Given the description of an element on the screen output the (x, y) to click on. 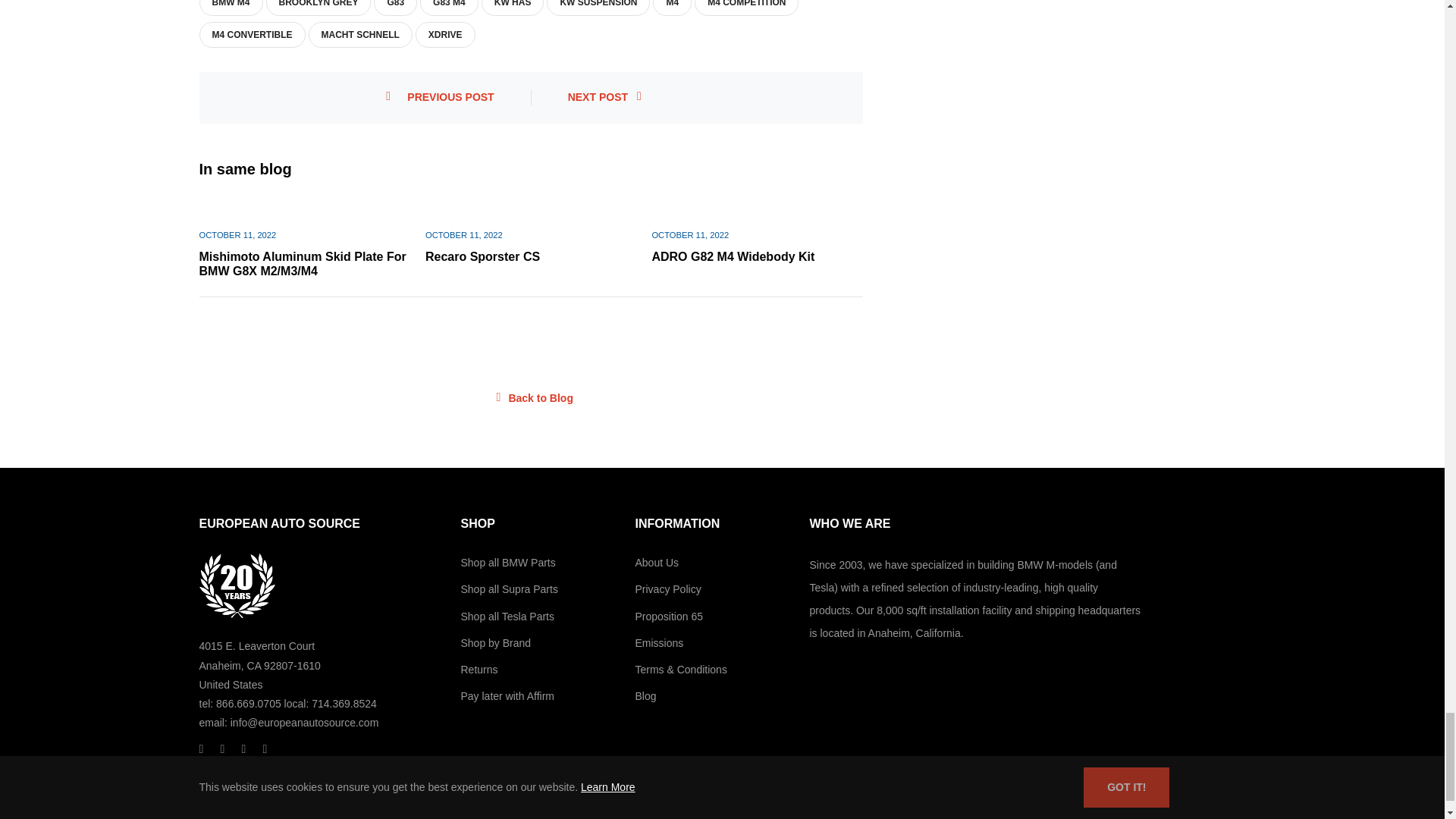
Show articles tagged g83 m4 (448, 3)
Show articles tagged brooklyn grey (318, 3)
Show articles tagged bmw m4 (231, 3)
Show articles tagged g83 (395, 3)
Show articles tagged kw has (513, 3)
